Given the description of an element on the screen output the (x, y) to click on. 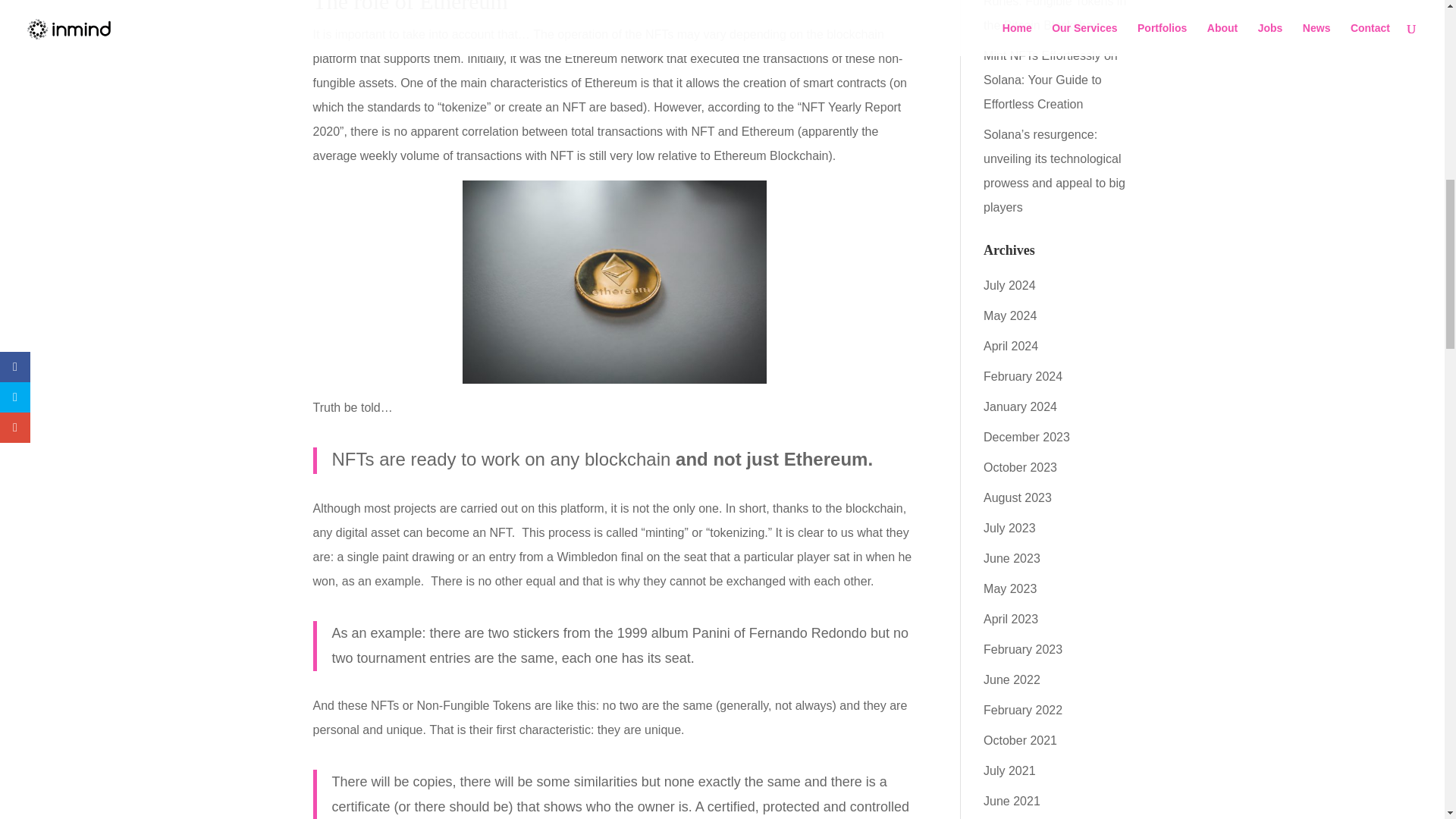
July 2024 (1009, 285)
April 2024 (1011, 345)
February 2024 (1023, 376)
July 2023 (1009, 527)
February 2023 (1023, 649)
January 2024 (1020, 406)
April 2023 (1011, 618)
May 2024 (1010, 315)
October 2023 (1020, 467)
August 2023 (1017, 497)
May 2023 (1010, 588)
December 2023 (1027, 436)
June 2023 (1012, 558)
